Given the description of an element on the screen output the (x, y) to click on. 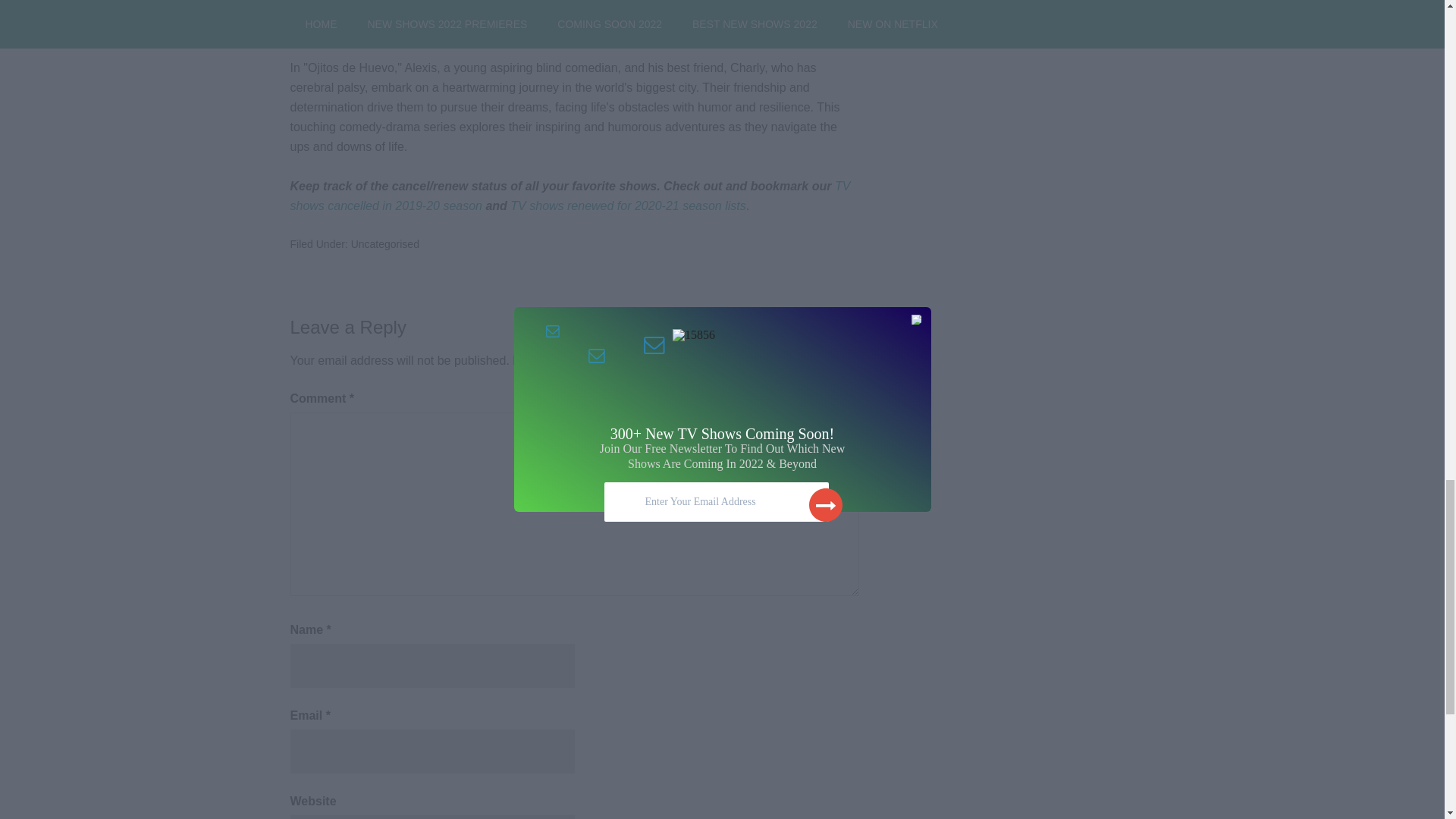
TV shows renewed for 2020-21 season lists (628, 205)
Uncategorised (384, 244)
TV shows cancelled in 2019-20 season (569, 195)
